Given the description of an element on the screen output the (x, y) to click on. 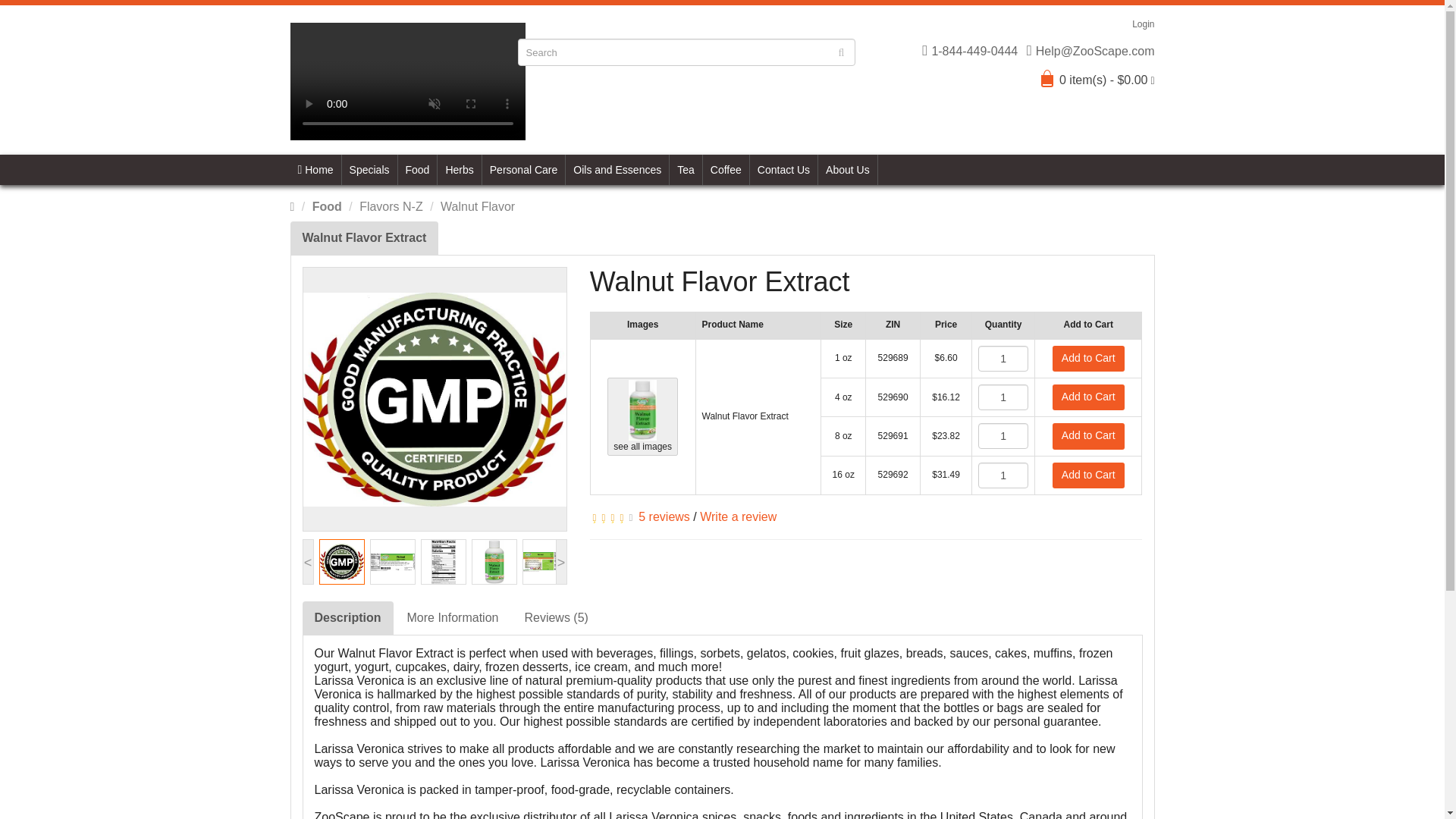
Food (417, 169)
1 (1002, 358)
1 (1002, 475)
1 (1002, 435)
Home (314, 169)
Home (314, 169)
Login (1140, 24)
Specials (369, 169)
1 (1002, 397)
